Given the description of an element on the screen output the (x, y) to click on. 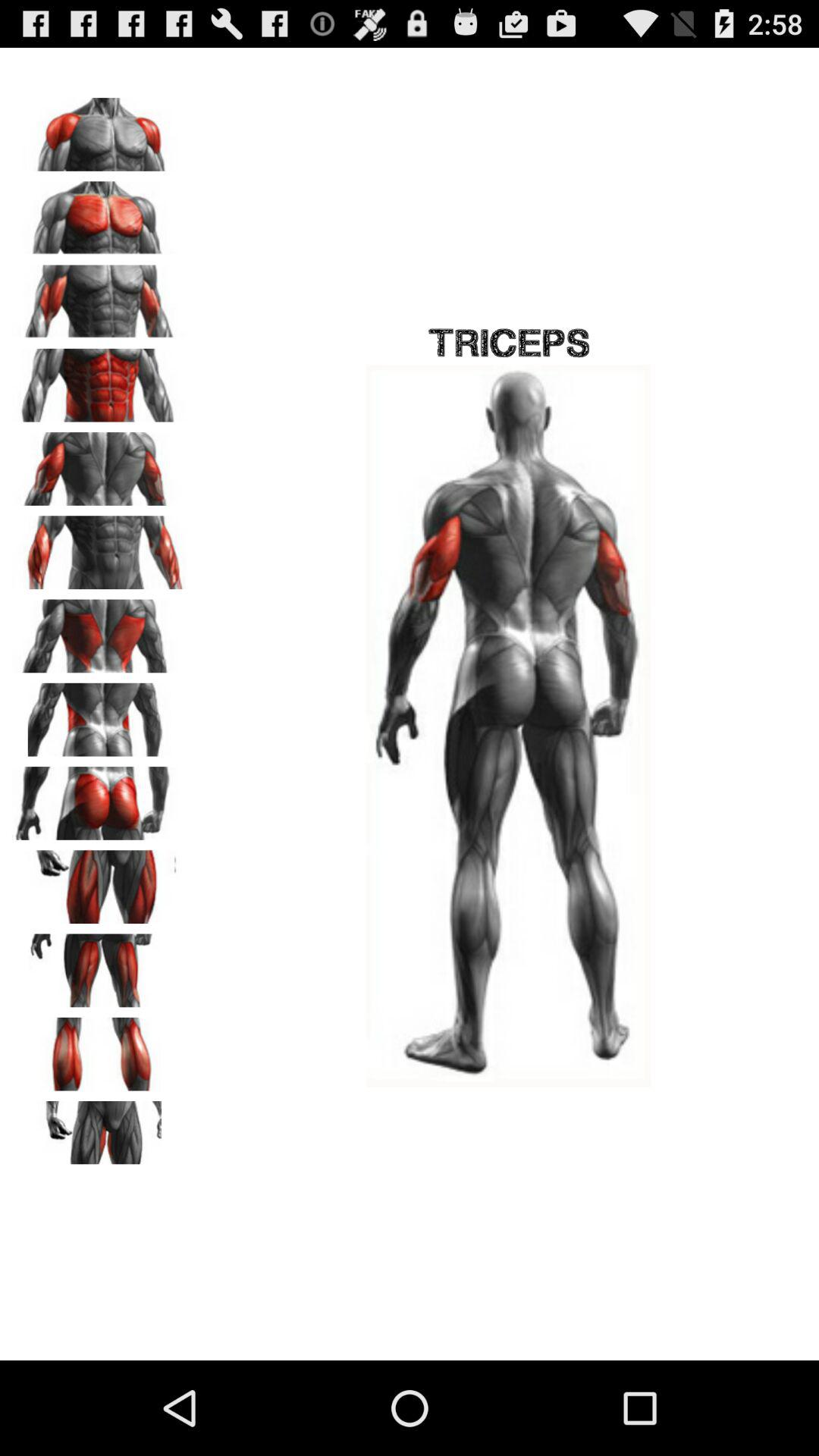
image that can change the view of the main image on the right (99, 380)
